Given the description of an element on the screen output the (x, y) to click on. 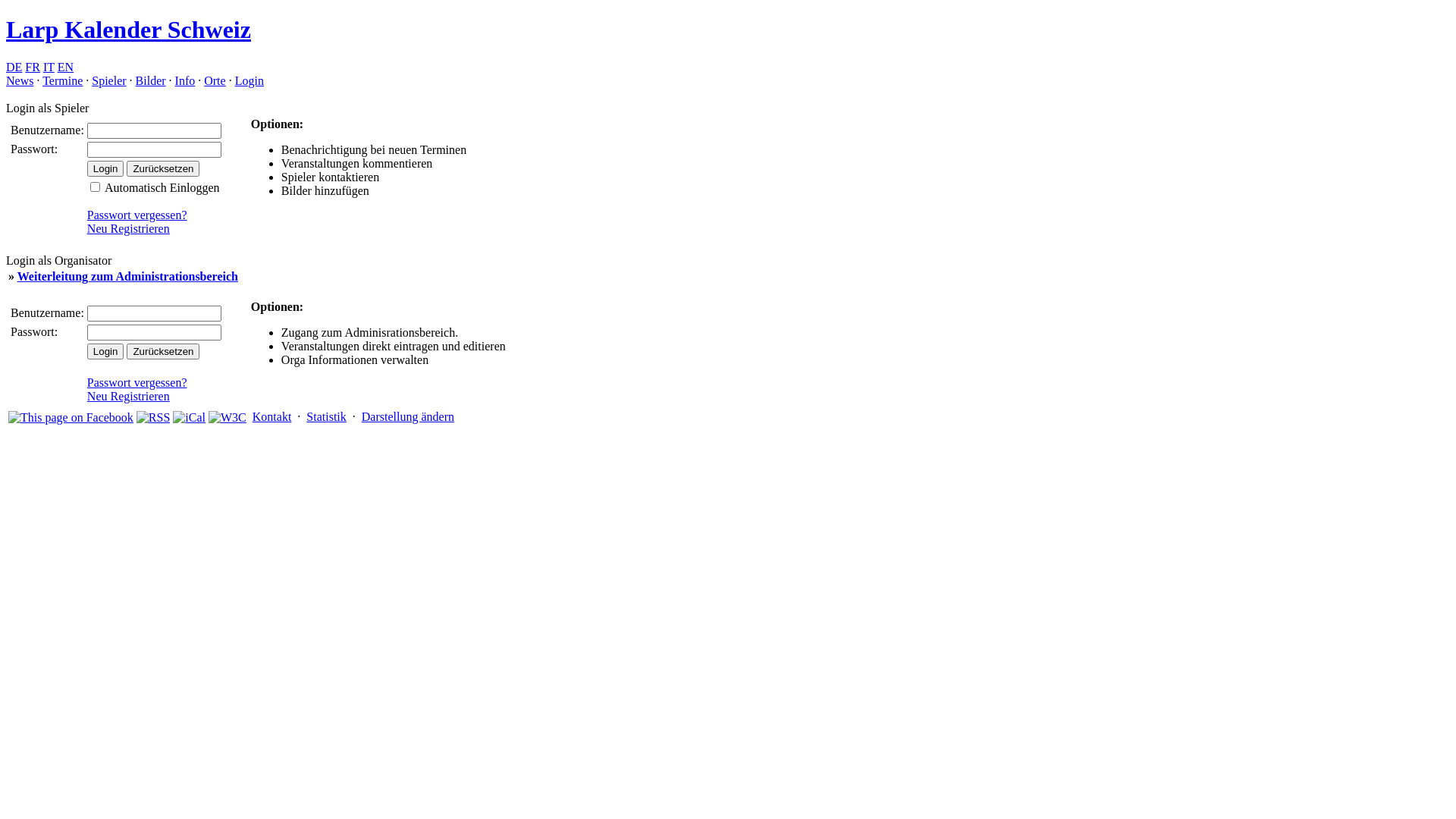
Kontakt Element type: text (271, 416)
iCal Format Element type: hover (188, 417)
Neu Registrieren Element type: text (128, 228)
Statistik Element type: text (325, 416)
Login Element type: text (105, 168)
Login Element type: text (105, 351)
Info Element type: text (185, 80)
Bilder Element type: text (150, 80)
Neu Registrieren Element type: text (128, 395)
Weiterleitung zum Administrationsbereich Element type: text (127, 275)
Spieler Element type: text (108, 80)
Login Element type: text (249, 80)
EN Element type: text (65, 66)
Passwort vergessen? Element type: text (137, 214)
Termine Element type: text (62, 80)
Passwort vergessen? Element type: text (137, 382)
IT Element type: text (48, 66)
FR Element type: text (32, 66)
RSS Newsfeeds Element type: hover (152, 417)
This page on Facebook Element type: hover (70, 417)
Orte Element type: text (214, 80)
Larp Kalender Schweiz Element type: text (128, 29)
DE Element type: text (13, 66)
News Element type: text (19, 80)
